Given the description of an element on the screen output the (x, y) to click on. 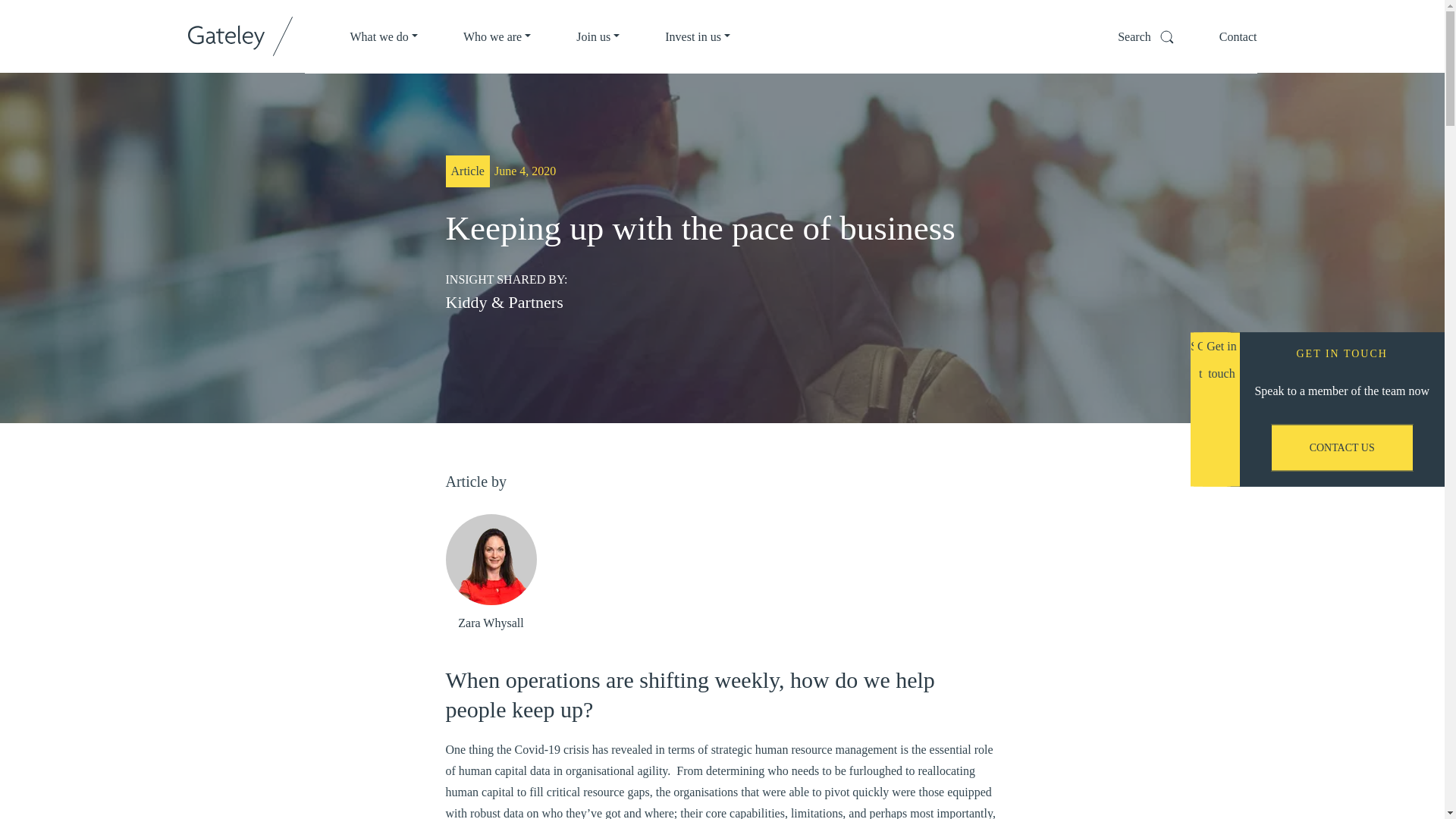
What we do (383, 36)
